Given the description of an element on the screen output the (x, y) to click on. 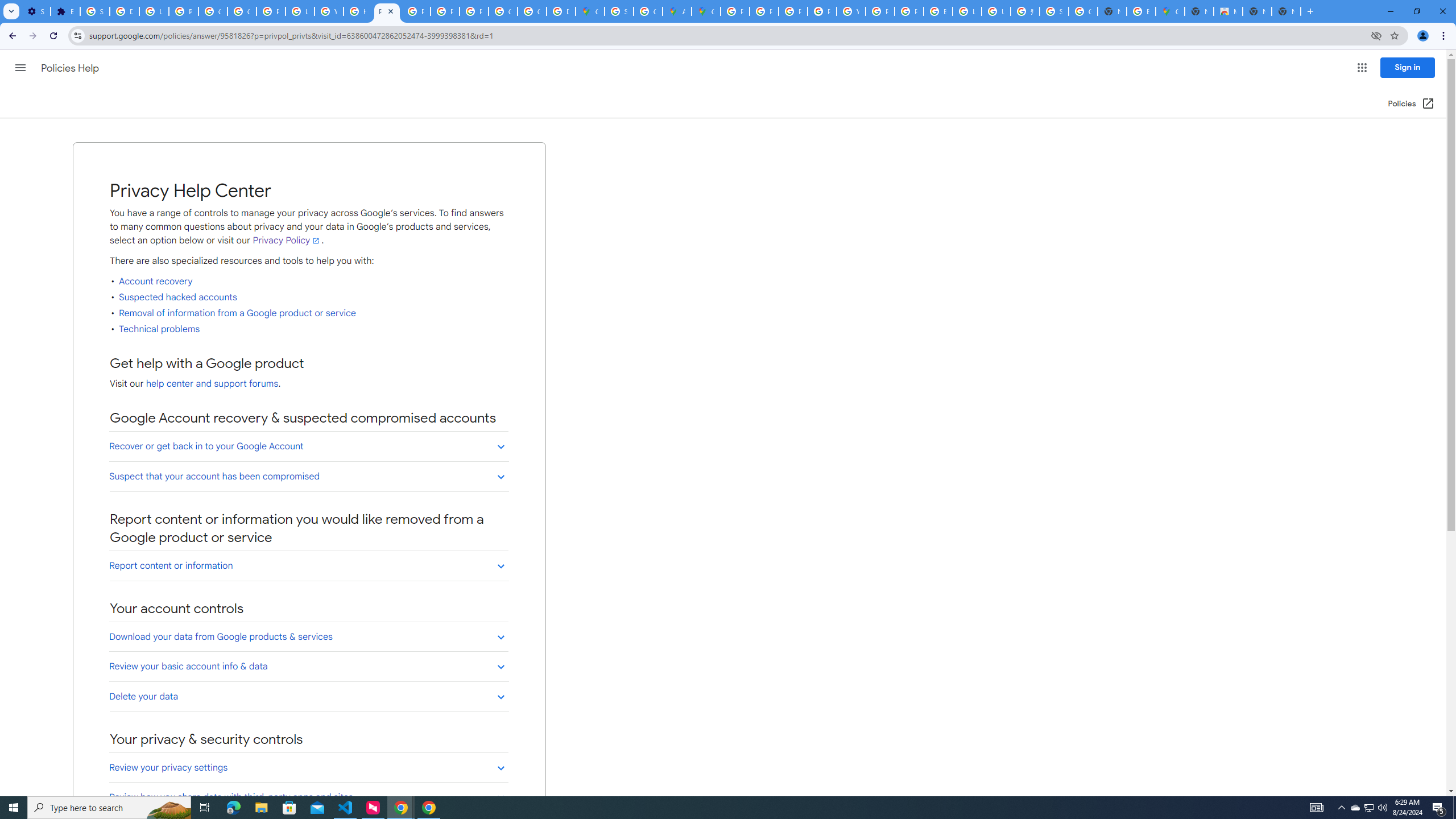
New Tab (1286, 11)
Sign in - Google Accounts (1054, 11)
Policies (Open in a new window) (1411, 103)
New Tab (1198, 11)
Google Account Help (212, 11)
YouTube (327, 11)
